Given the description of an element on the screen output the (x, y) to click on. 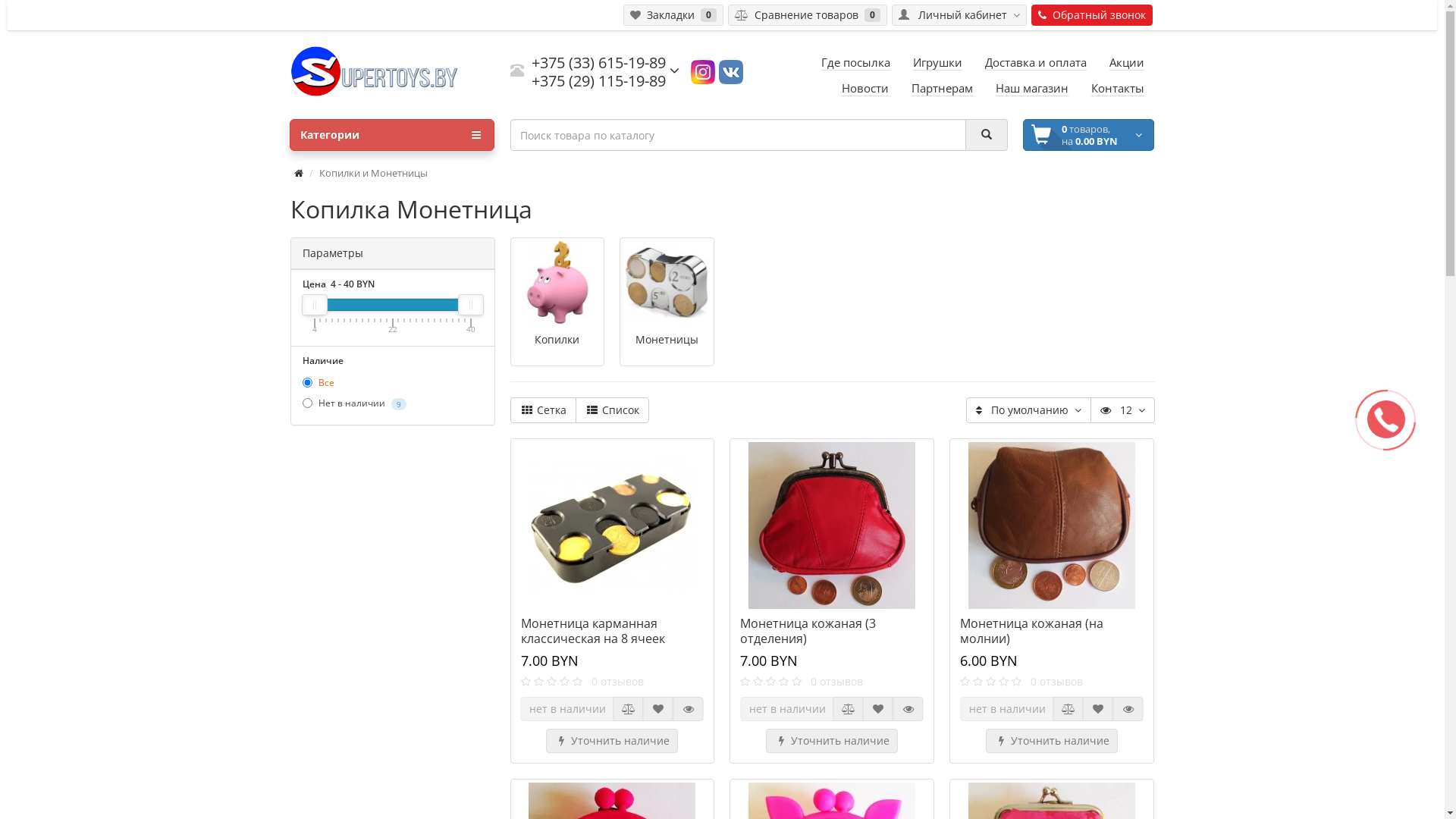
   12   Element type: text (1122, 410)
SuperToys.by Element type: hover (391, 71)
